Given the description of an element on the screen output the (x, y) to click on. 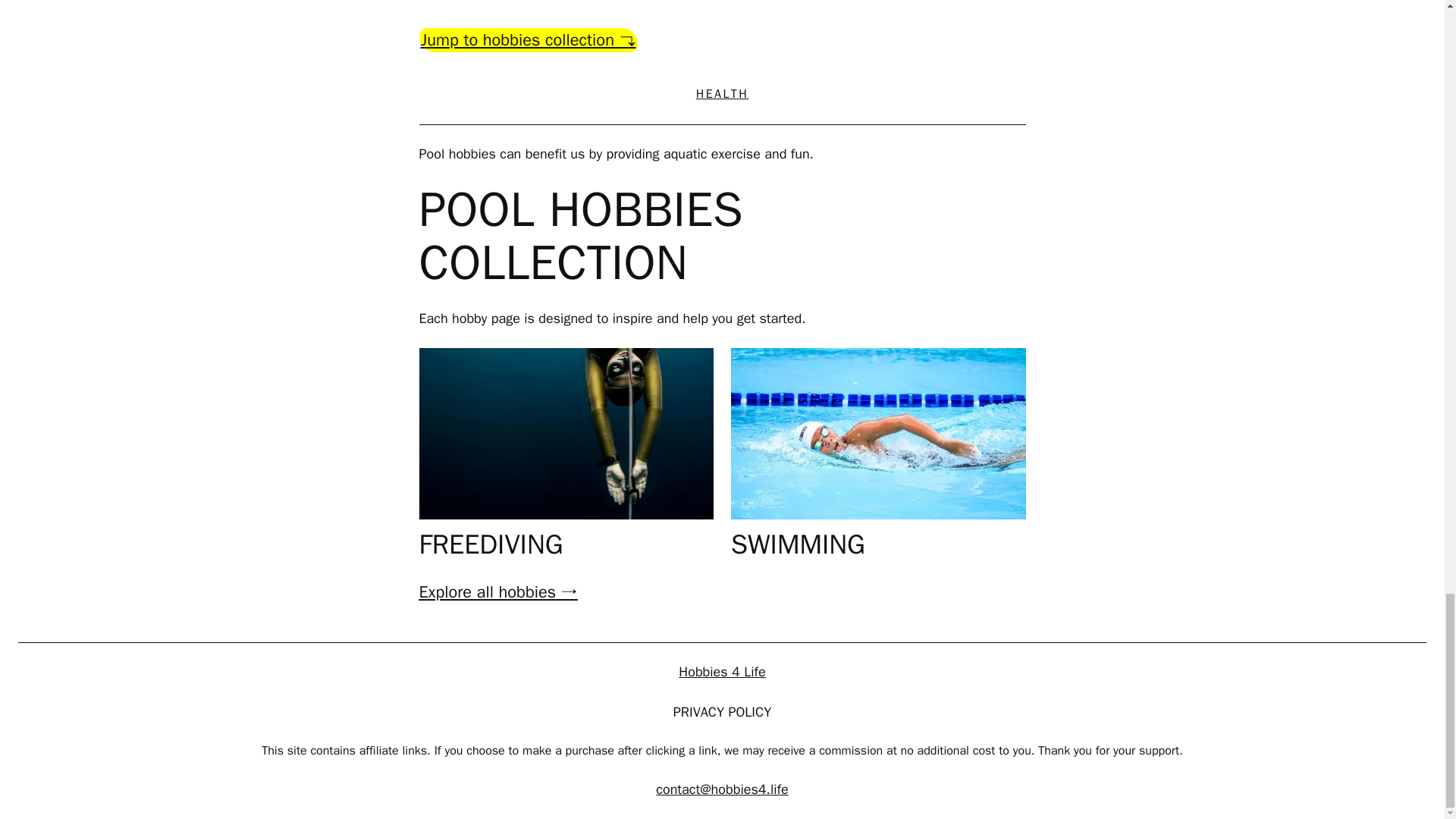
PRIVACY POLICY (721, 712)
SWIMMING (797, 544)
Hobbies 4 Life (721, 671)
FREEDIVING (490, 544)
